Given the description of an element on the screen output the (x, y) to click on. 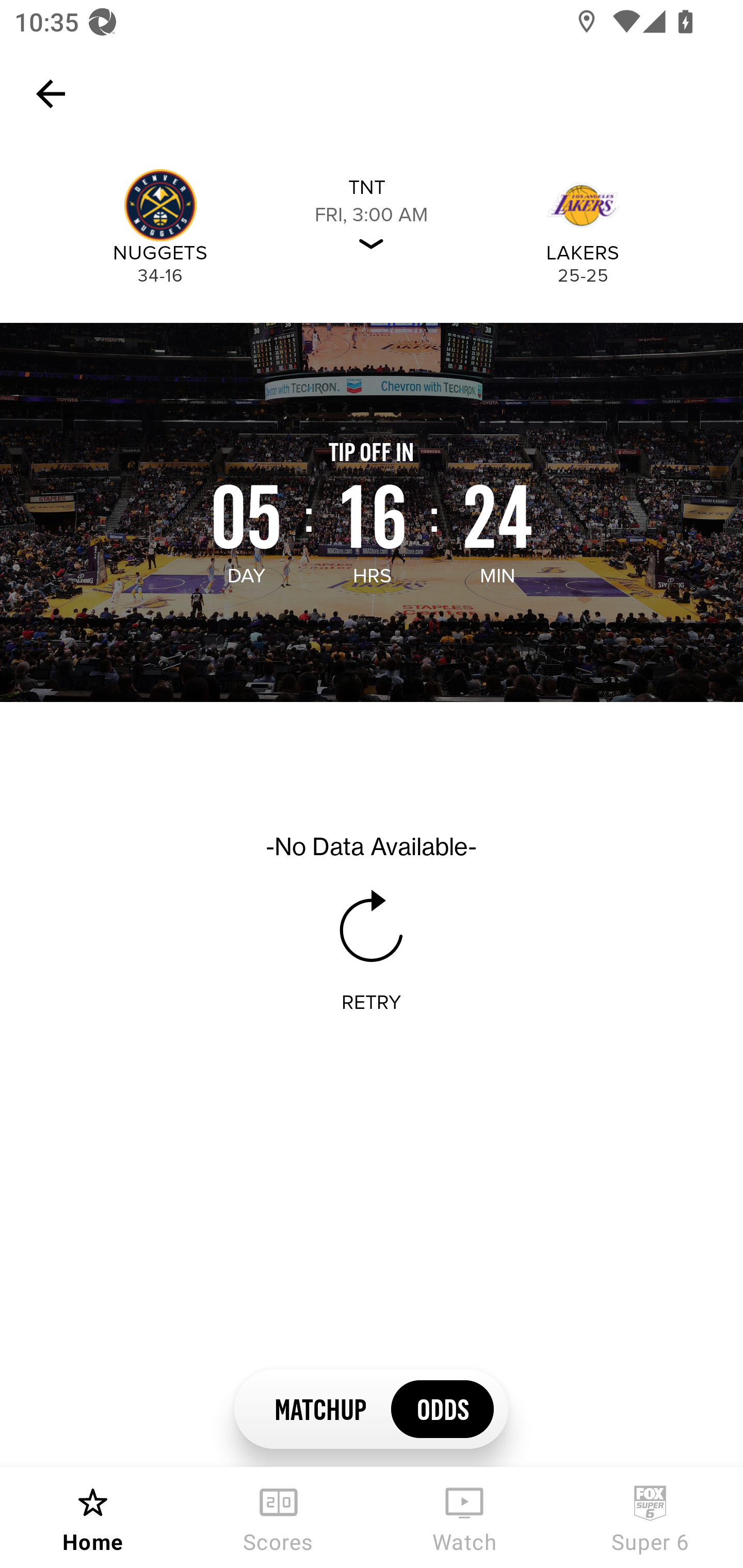
Navigate up (50, 93)
RETRY (371, 1002)
MATCHUP (319, 1408)
Scores (278, 1517)
Watch (464, 1517)
Super 6 (650, 1517)
